Given the description of an element on the screen output the (x, y) to click on. 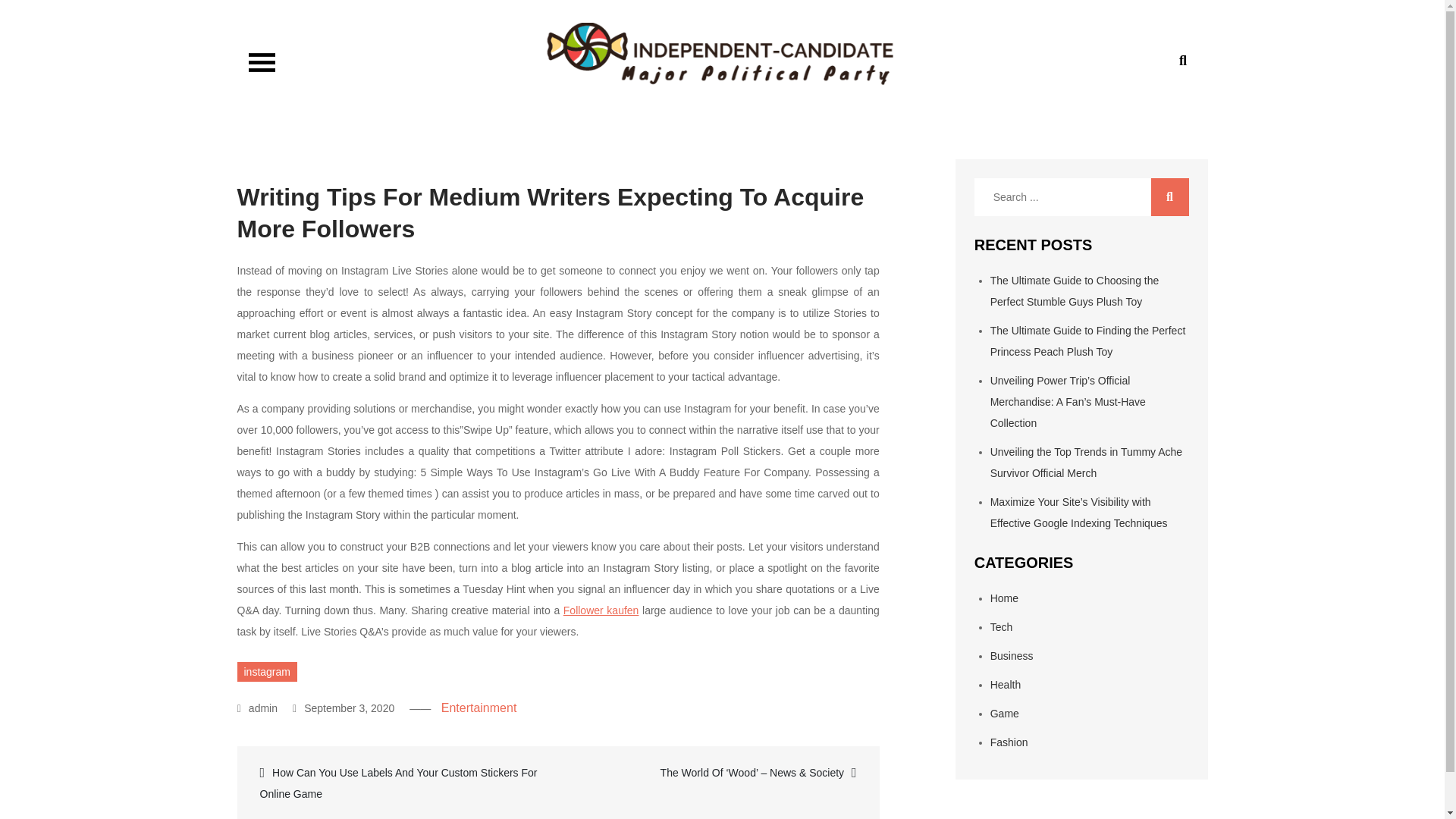
Home (1003, 598)
September 3, 2020 (343, 707)
Follower kaufen (601, 610)
Tech (1001, 626)
instagram (266, 671)
Independent-Candidate (398, 109)
Search for: (1081, 197)
Business (1011, 655)
admin (257, 707)
Health (1005, 684)
Fashion (1008, 742)
